Given the description of an element on the screen output the (x, y) to click on. 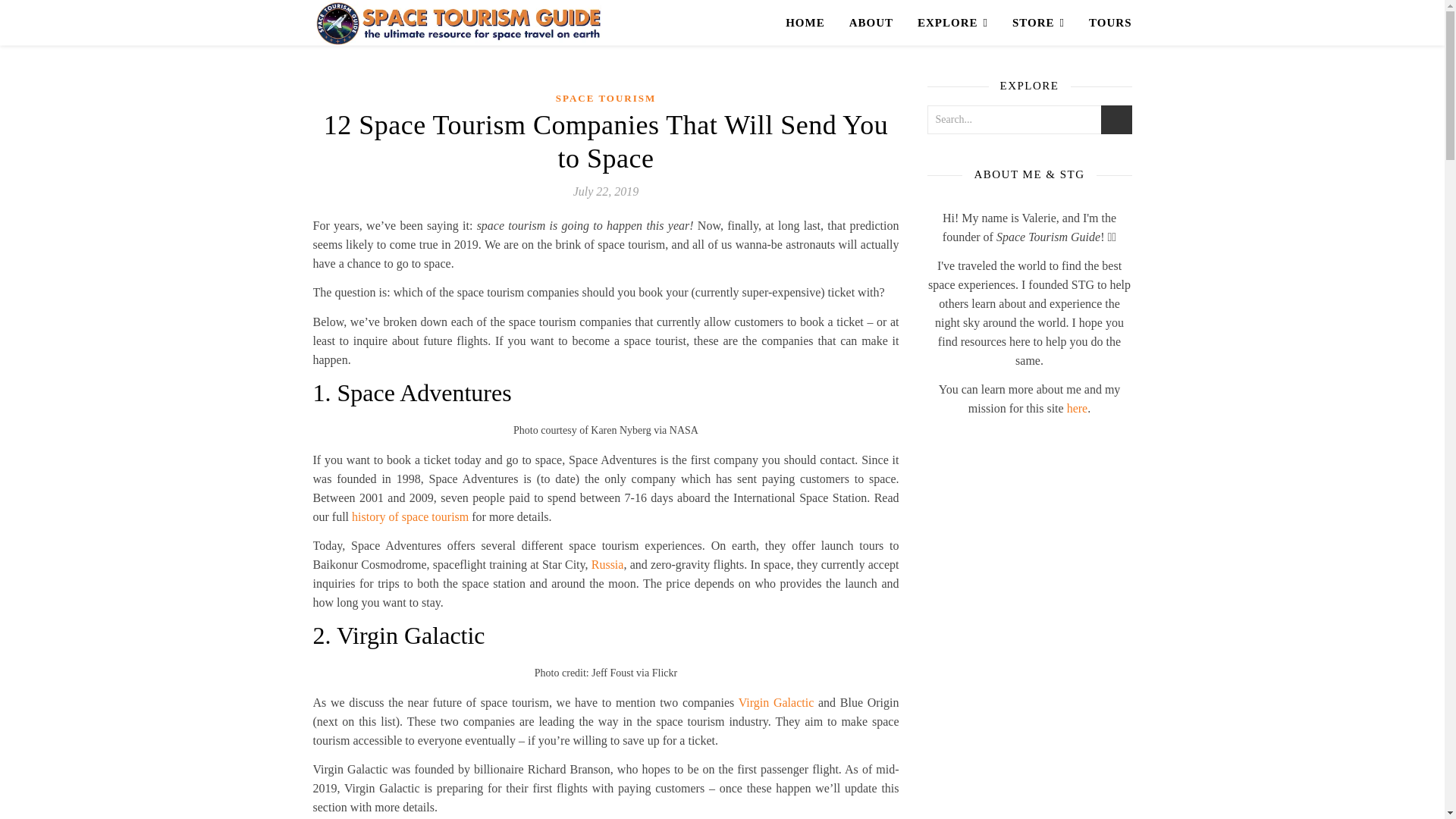
history of space tourism (410, 516)
ABOUT (871, 22)
STORE (1038, 22)
Space Tourism Guide (456, 22)
TOURS (1104, 22)
HOME (811, 22)
EXPLORE (952, 22)
Russia (607, 563)
Virgin Galactic (775, 702)
SPACE TOURISM (606, 98)
